Given the description of an element on the screen output the (x, y) to click on. 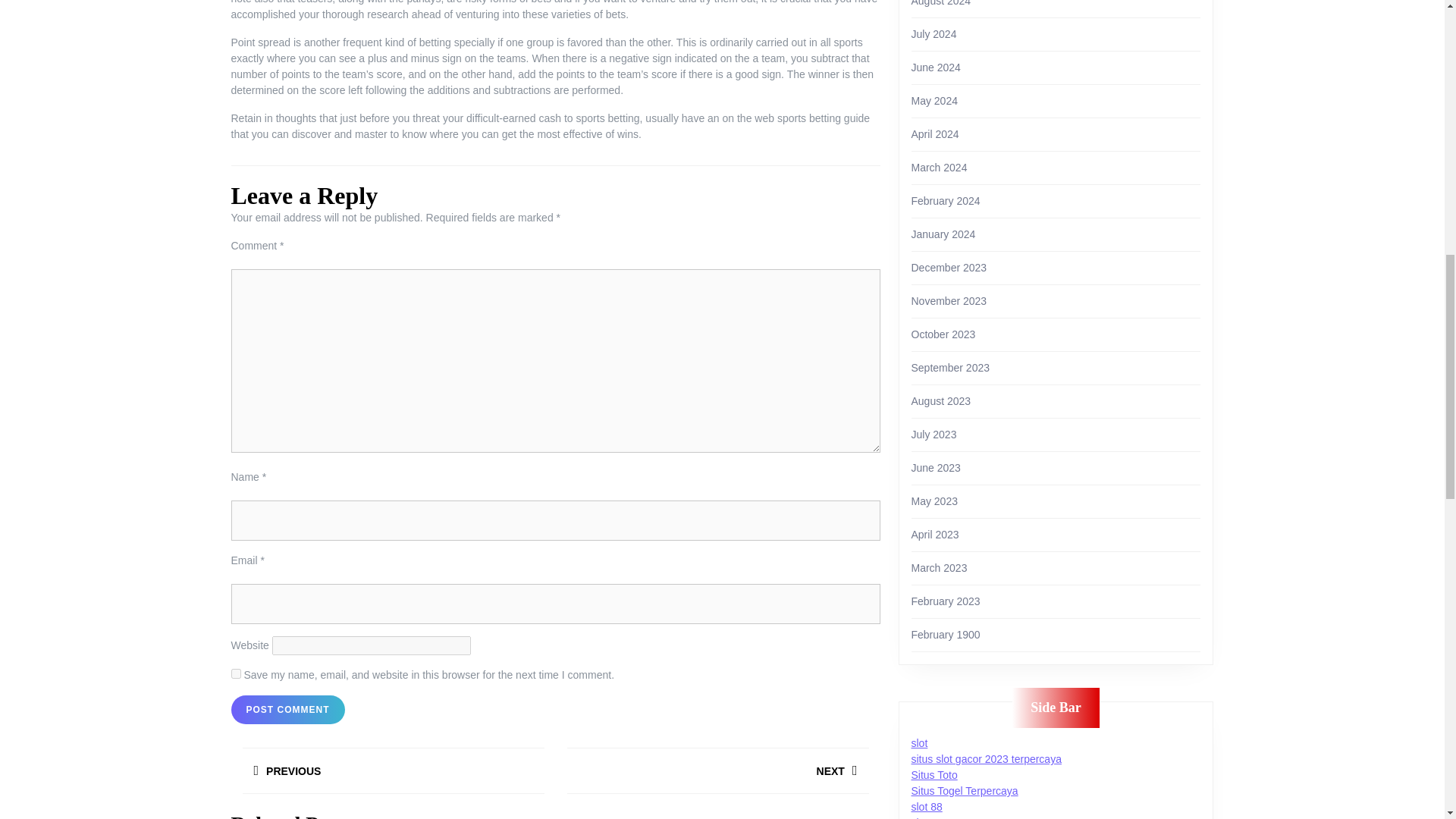
Post Comment (716, 773)
yes (286, 709)
Post Comment (392, 773)
